Given the description of an element on the screen output the (x, y) to click on. 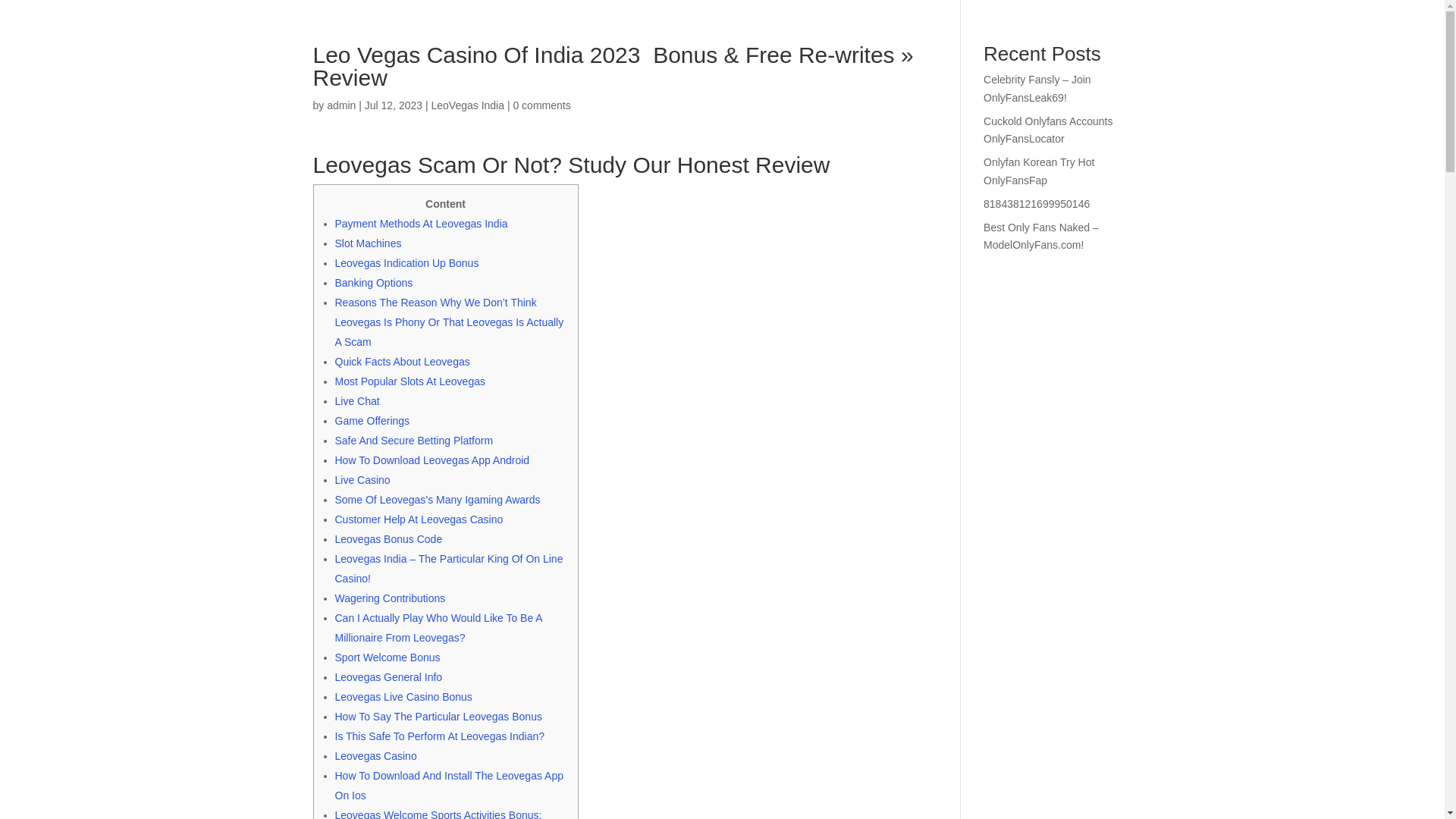
Leovegas Bonus Code (388, 539)
Game Offerings (372, 420)
Banking Options (373, 282)
Quick Facts About Leovegas (402, 361)
Most Popular Slots At Leovegas (409, 381)
Wagering Contributions (389, 598)
Customer Help At Leovegas Casino (418, 519)
Safe And Secure Betting Platform (413, 440)
How To Download Leovegas App Android (431, 460)
Posts by admin (340, 105)
admin (340, 105)
Leovegas Indication Up Bonus (406, 263)
Live Casino (362, 480)
LeoVegas India (466, 105)
Payment Methods At Leovegas India (421, 223)
